Given the description of an element on the screen output the (x, y) to click on. 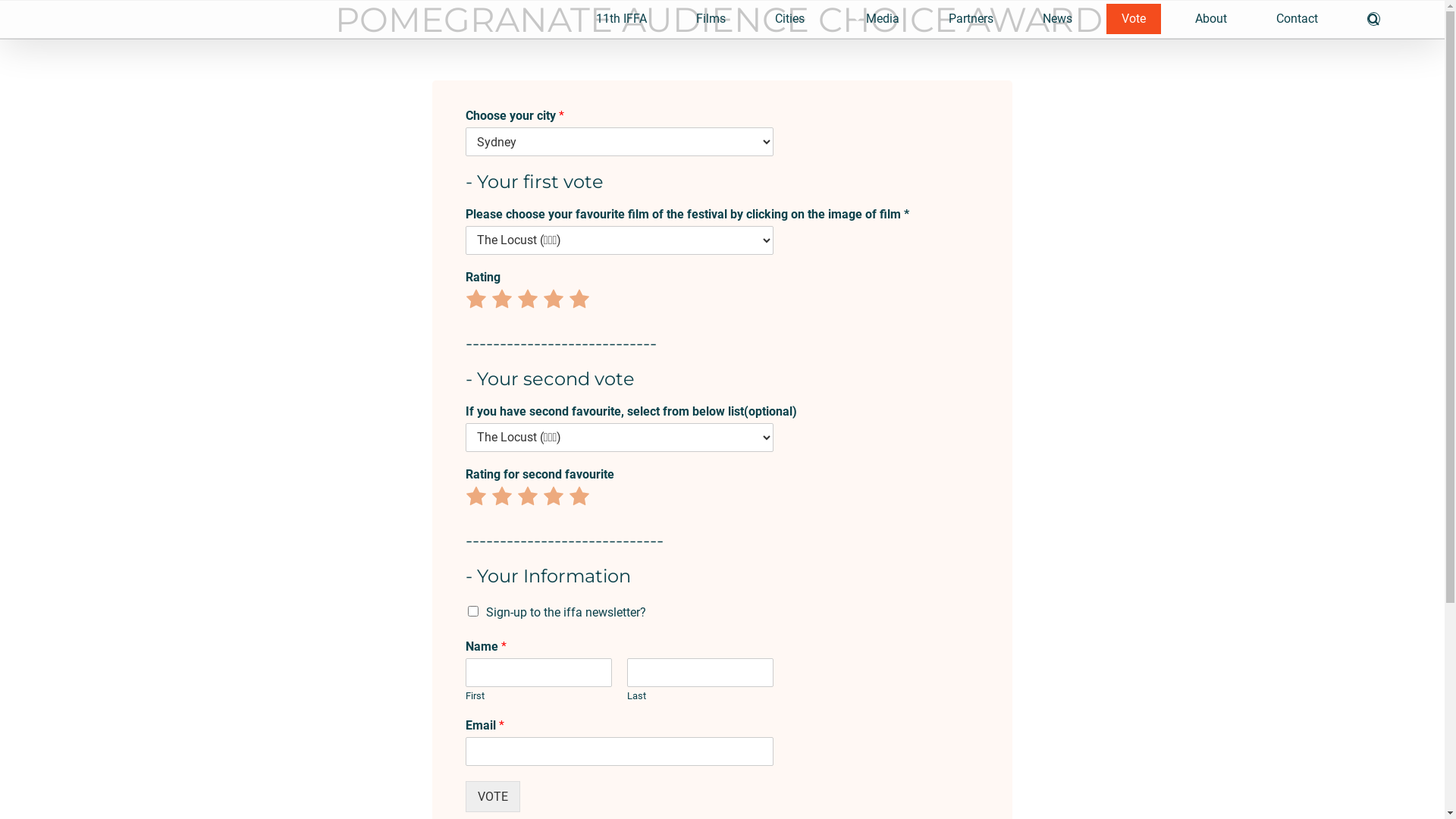
Cities Element type: text (789, 18)
VOTE Element type: text (492, 796)
Search Element type: hover (1373, 18)
Contact Element type: text (1297, 18)
Vote Element type: text (1133, 18)
About Element type: text (1210, 18)
Media Element type: text (876, 18)
Films Element type: text (710, 18)
News Element type: text (1057, 18)
11th IFFA Element type: text (621, 18)
Partners Element type: text (970, 18)
